Given the description of an element on the screen output the (x, y) to click on. 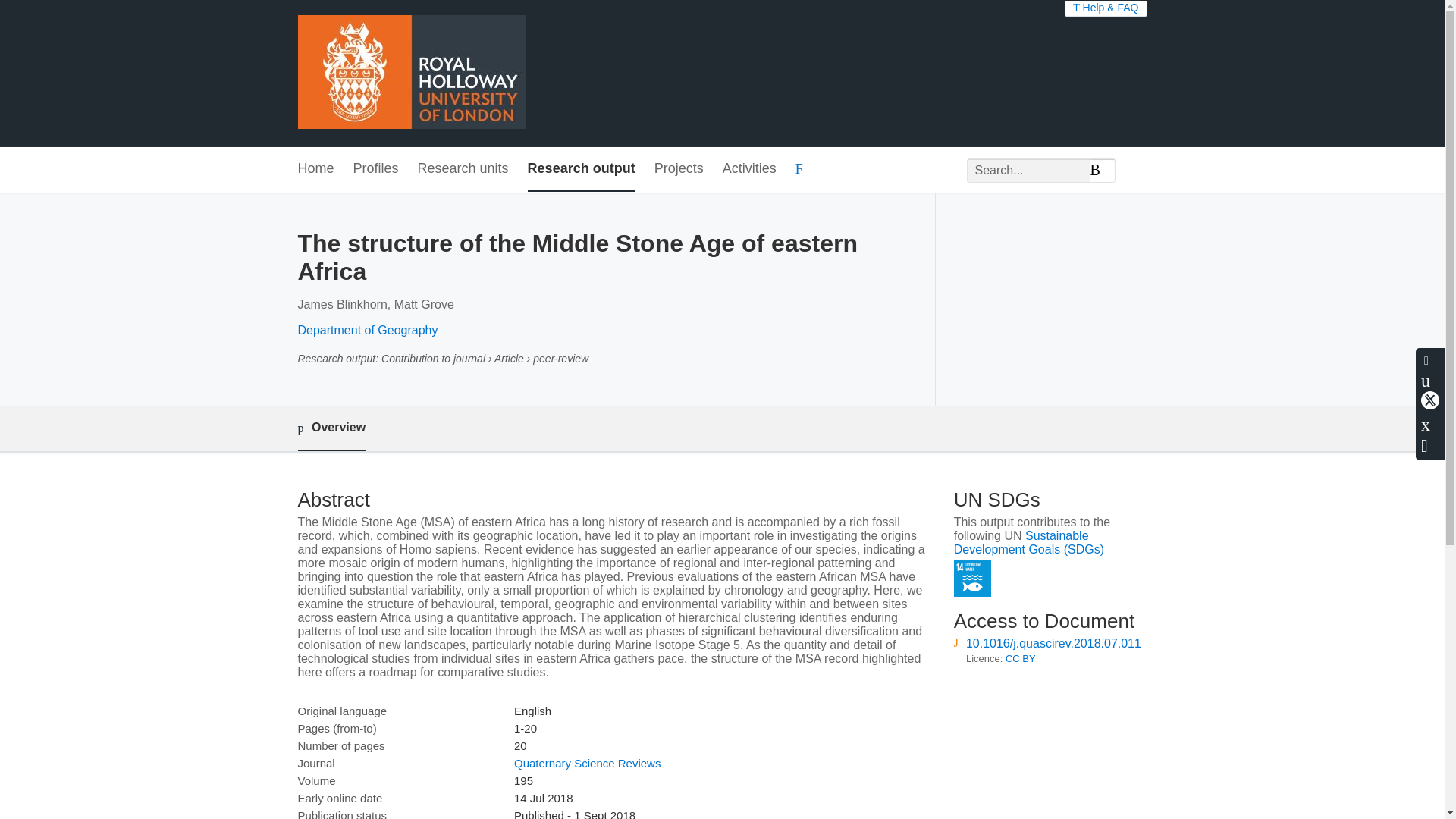
Activities (749, 169)
Projects (678, 169)
Research output (580, 169)
Profiles (375, 169)
Research units (462, 169)
SDG 14 - Life Below Water (972, 578)
Overview (331, 428)
Department of Geography (367, 329)
Royal Holloway Research Portal Home (410, 73)
Quaternary Science Reviews (587, 762)
CC BY (1020, 658)
